Given the description of an element on the screen output the (x, y) to click on. 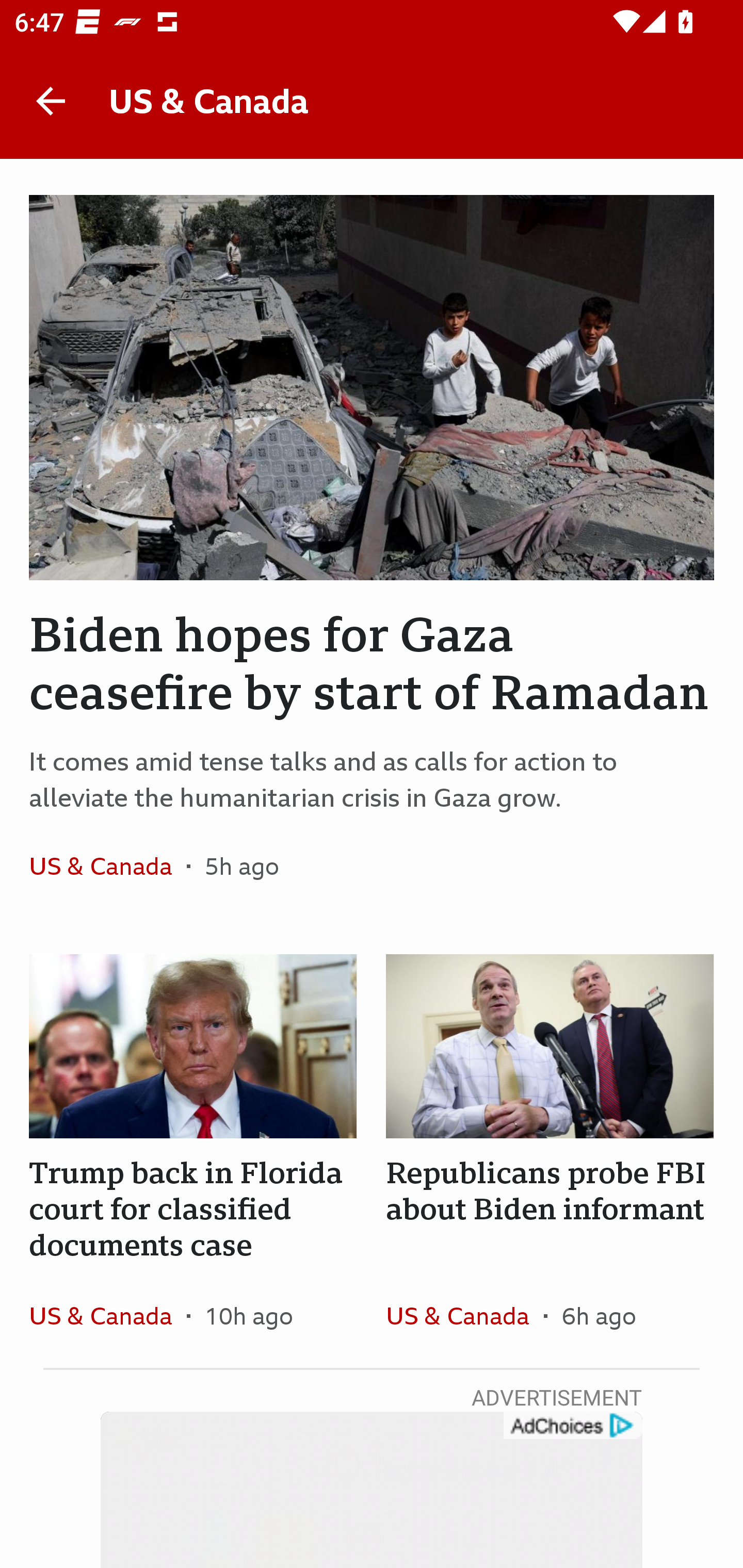
Back (50, 101)
US & Canada In the section US & Canada (107, 865)
US & Canada In the section US & Canada (107, 1315)
US & Canada In the section US & Canada (464, 1315)
Video Player get?name=admarker-full-tl   (371, 1489)
get?name=admarker-full-tl (571, 1425)
